Given the description of an element on the screen output the (x, y) to click on. 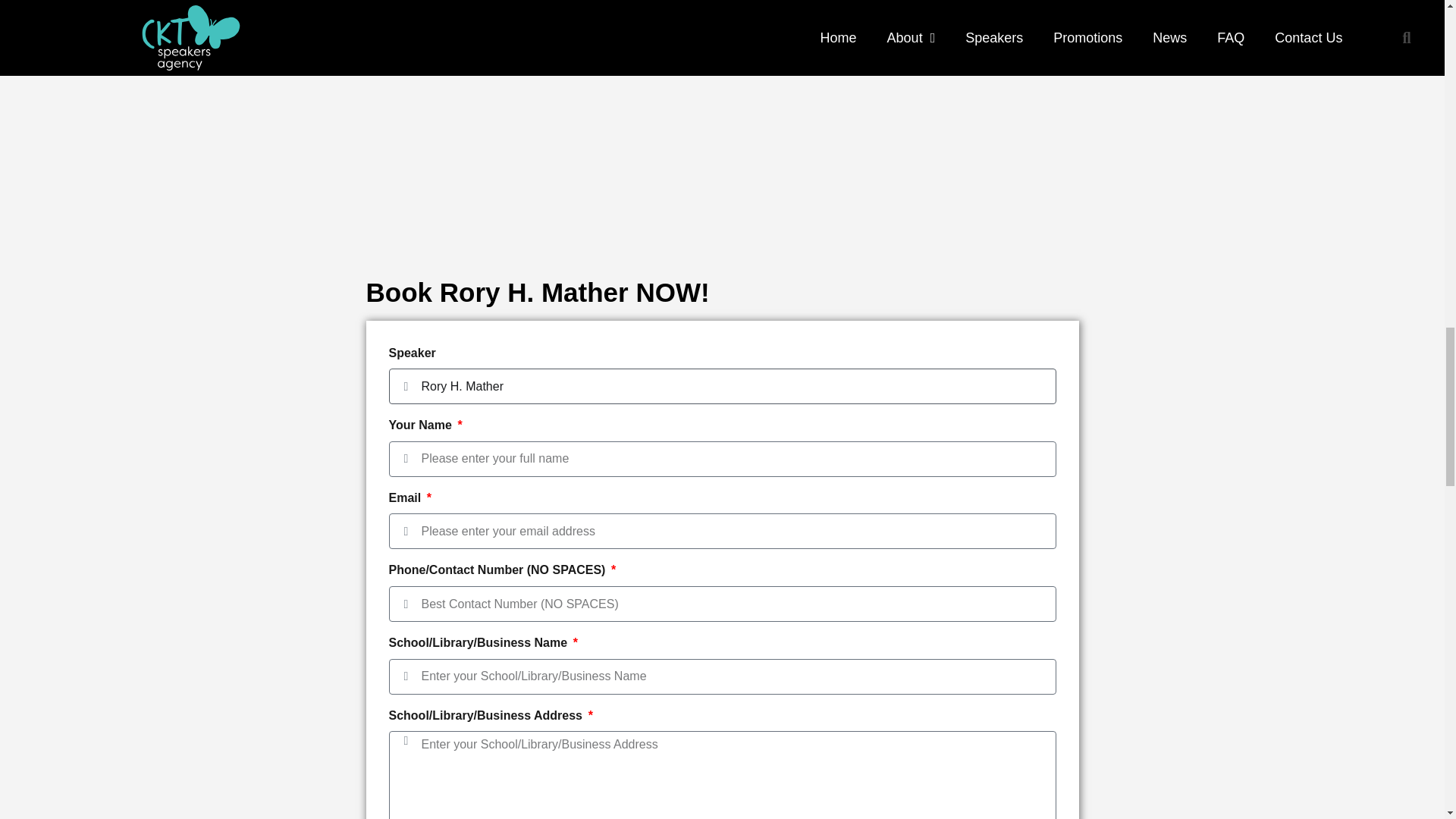
Rory H. Mather (721, 386)
